Given the description of an element on the screen output the (x, y) to click on. 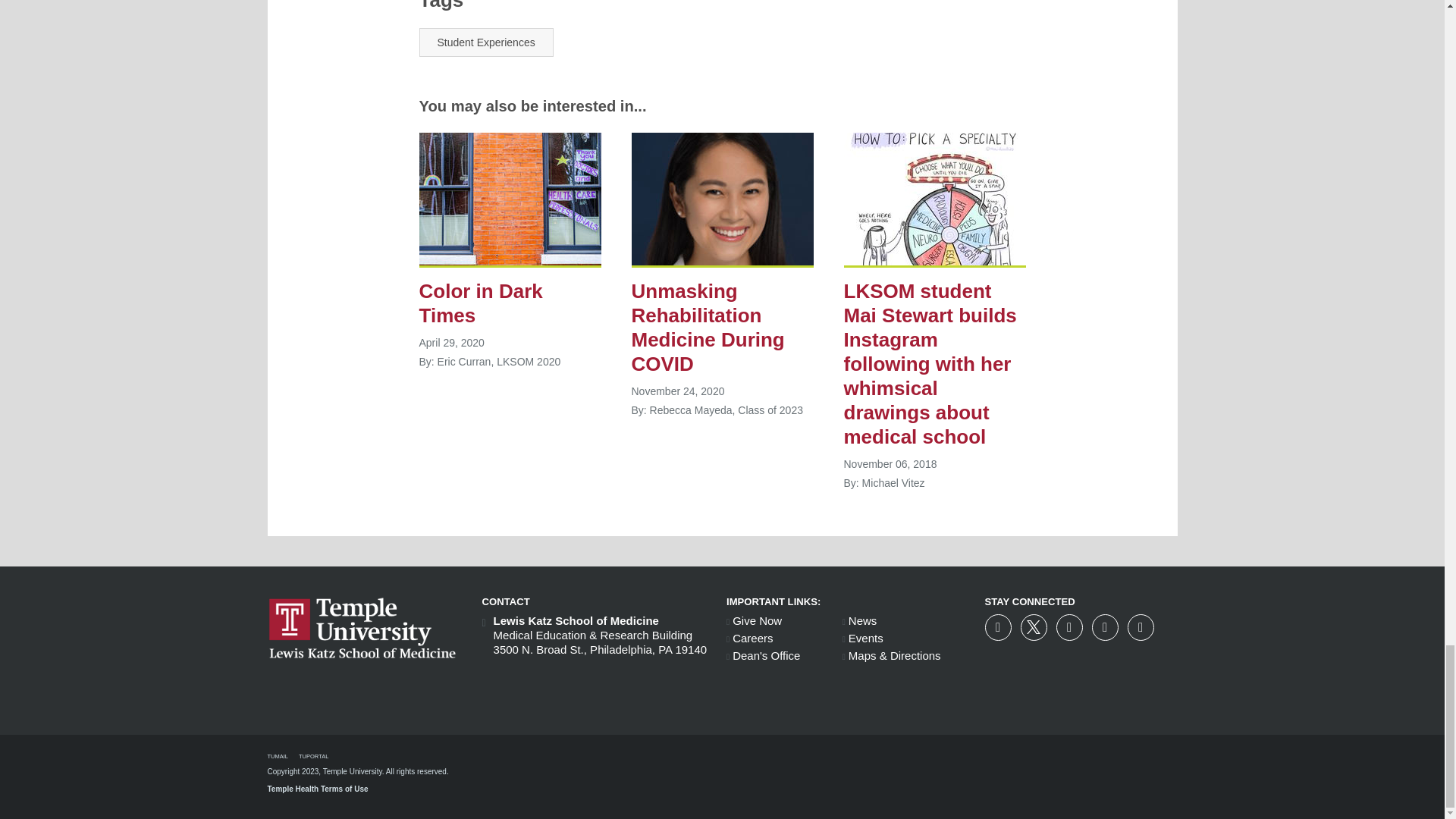
Rebecca Mayeda (721, 199)
Home (365, 697)
